Given the description of an element on the screen output the (x, y) to click on. 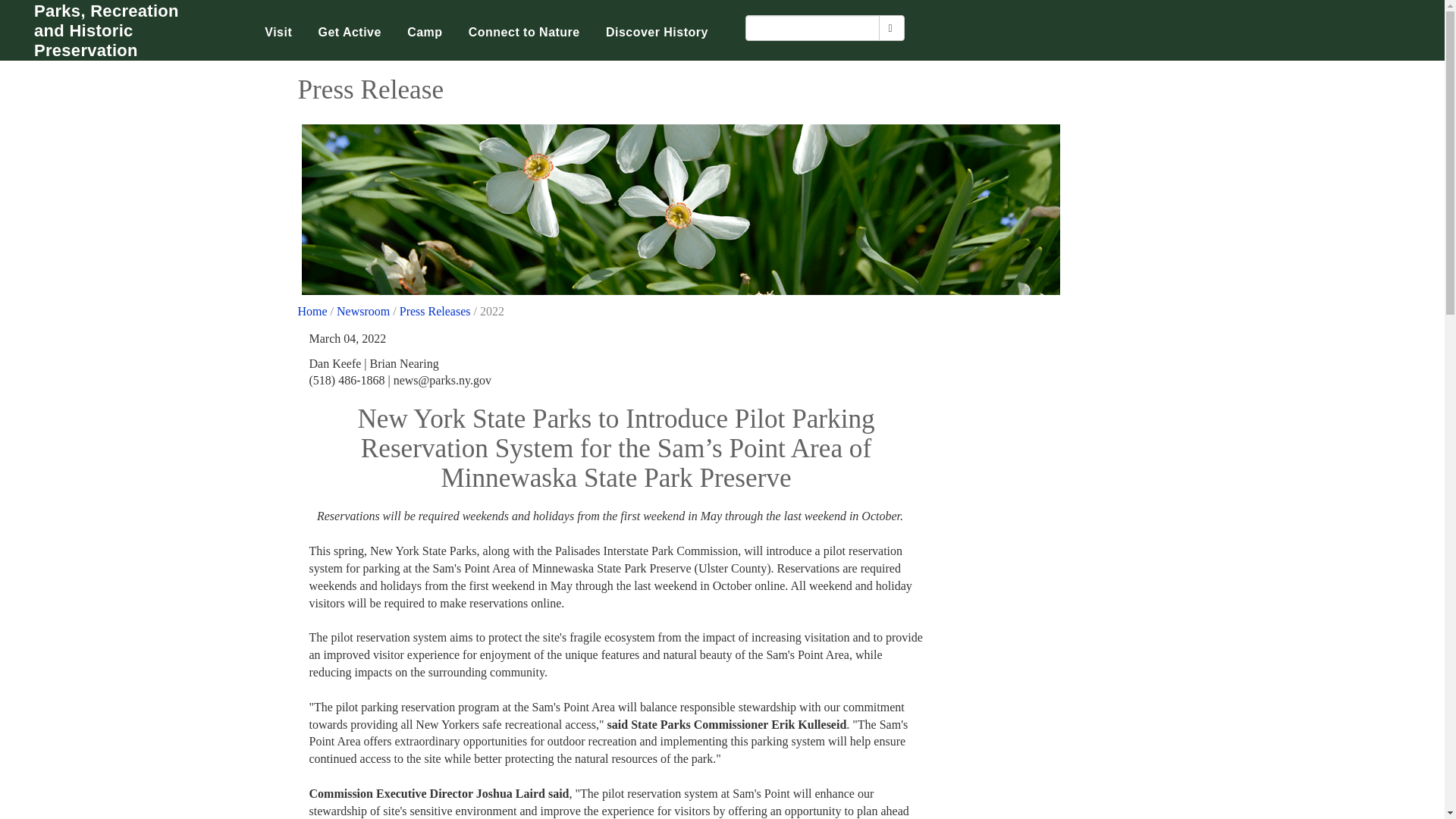
Press Release (680, 209)
Parks, Recreation and Historic Preservation (125, 30)
Connect to Nature (524, 32)
Newsroom (363, 310)
Press Releases (434, 310)
Discover History (656, 32)
Home (311, 310)
Camp (424, 32)
Get Active (348, 32)
